Given the description of an element on the screen output the (x, y) to click on. 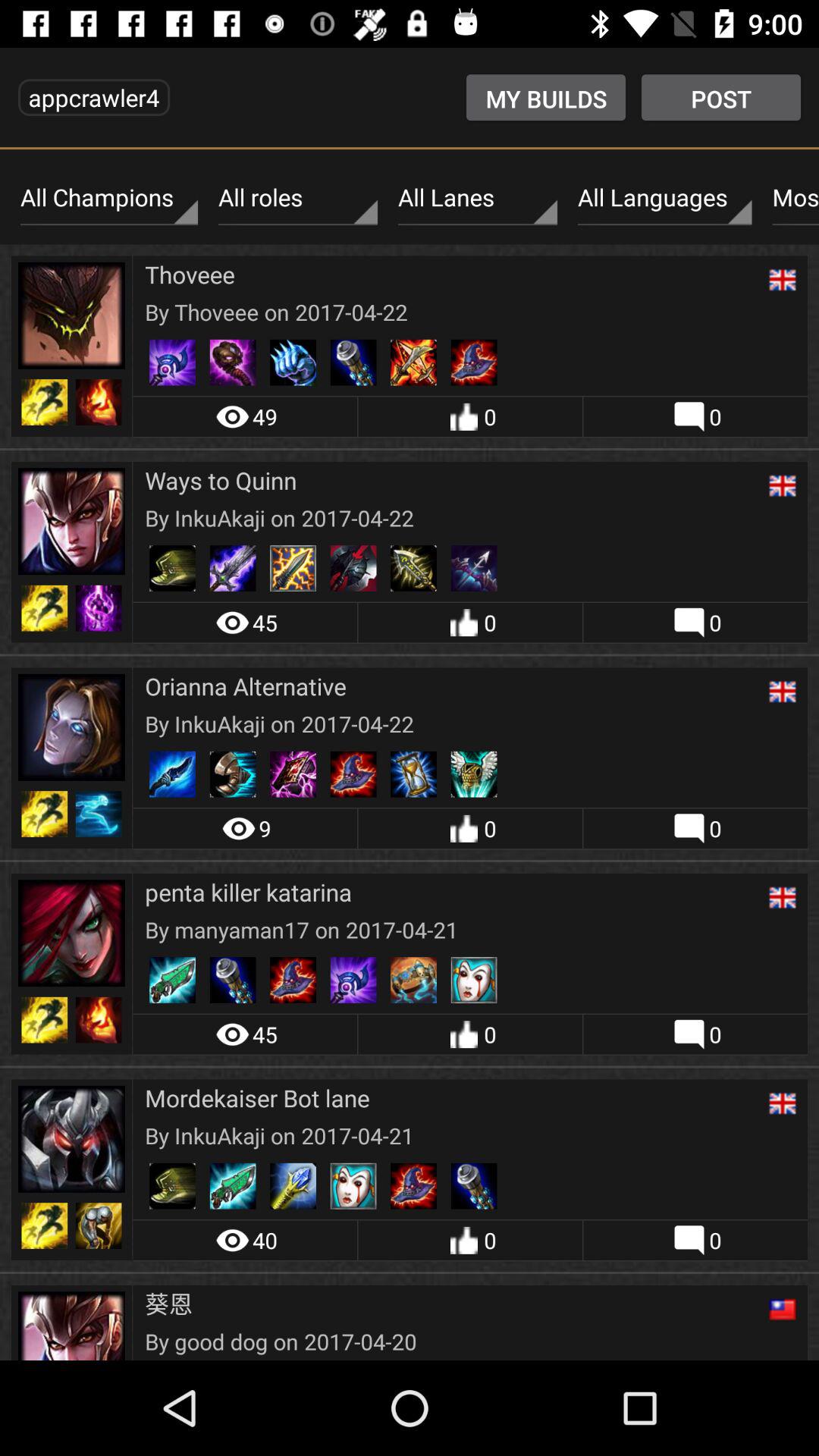
turn on the item to the right of my builds (720, 97)
